Given the description of an element on the screen output the (x, y) to click on. 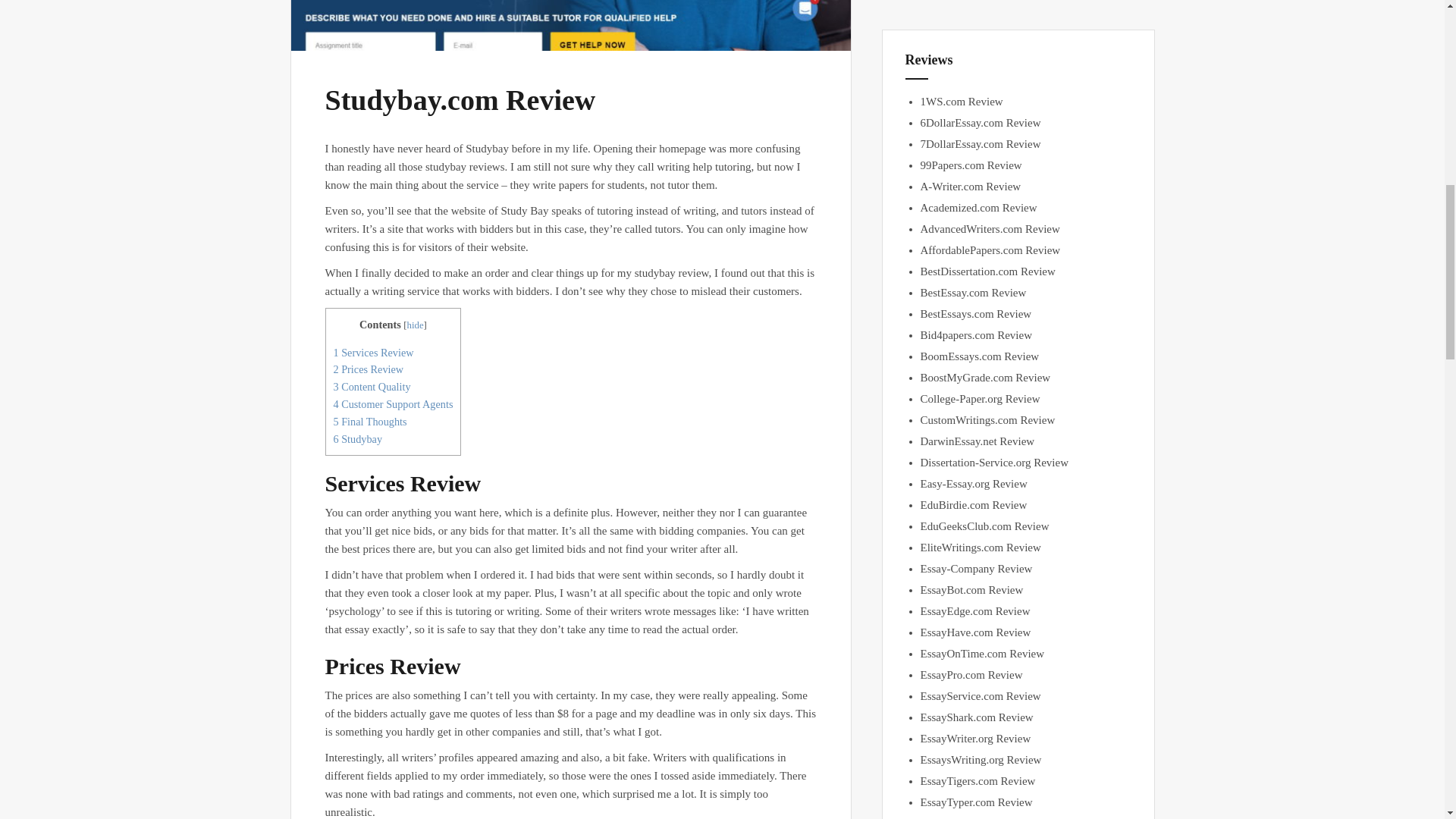
Bid4papers.com Review (976, 335)
BestDissertation.com Review (987, 271)
AffordablePapers.com Review (990, 250)
Academized.com Review (978, 207)
1WS.com Review (961, 101)
7DollarEssay.com Review (980, 143)
BestEssays.com Review (976, 313)
BestEssay.com Review (973, 292)
AdvancedWriters.com Review (989, 228)
6 Studybay (357, 439)
6DollarEssay.com Review (980, 122)
3 Content Quality (371, 386)
A-Writer.com Review (971, 186)
5 Final Thoughts (370, 421)
4 Customer Support Agents (392, 404)
